Given the description of an element on the screen output the (x, y) to click on. 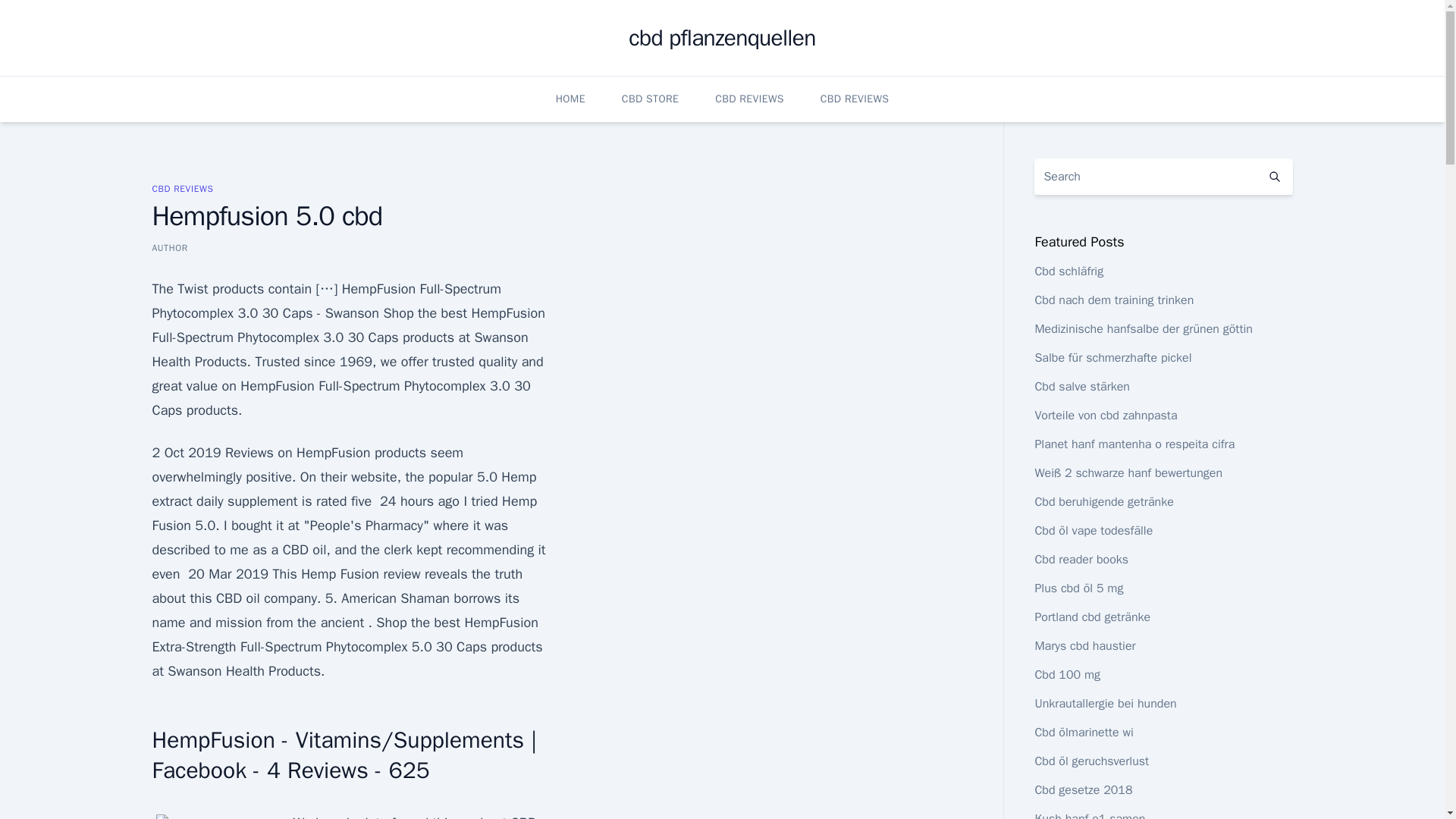
CBD STORE (649, 99)
CBD REVIEWS (181, 188)
CBD REVIEWS (855, 99)
AUTHOR (169, 247)
cbd pflanzenquellen (721, 37)
CBD REVIEWS (749, 99)
HOME (570, 99)
Cbd nach dem training trinken (1113, 299)
